Given the description of an element on the screen output the (x, y) to click on. 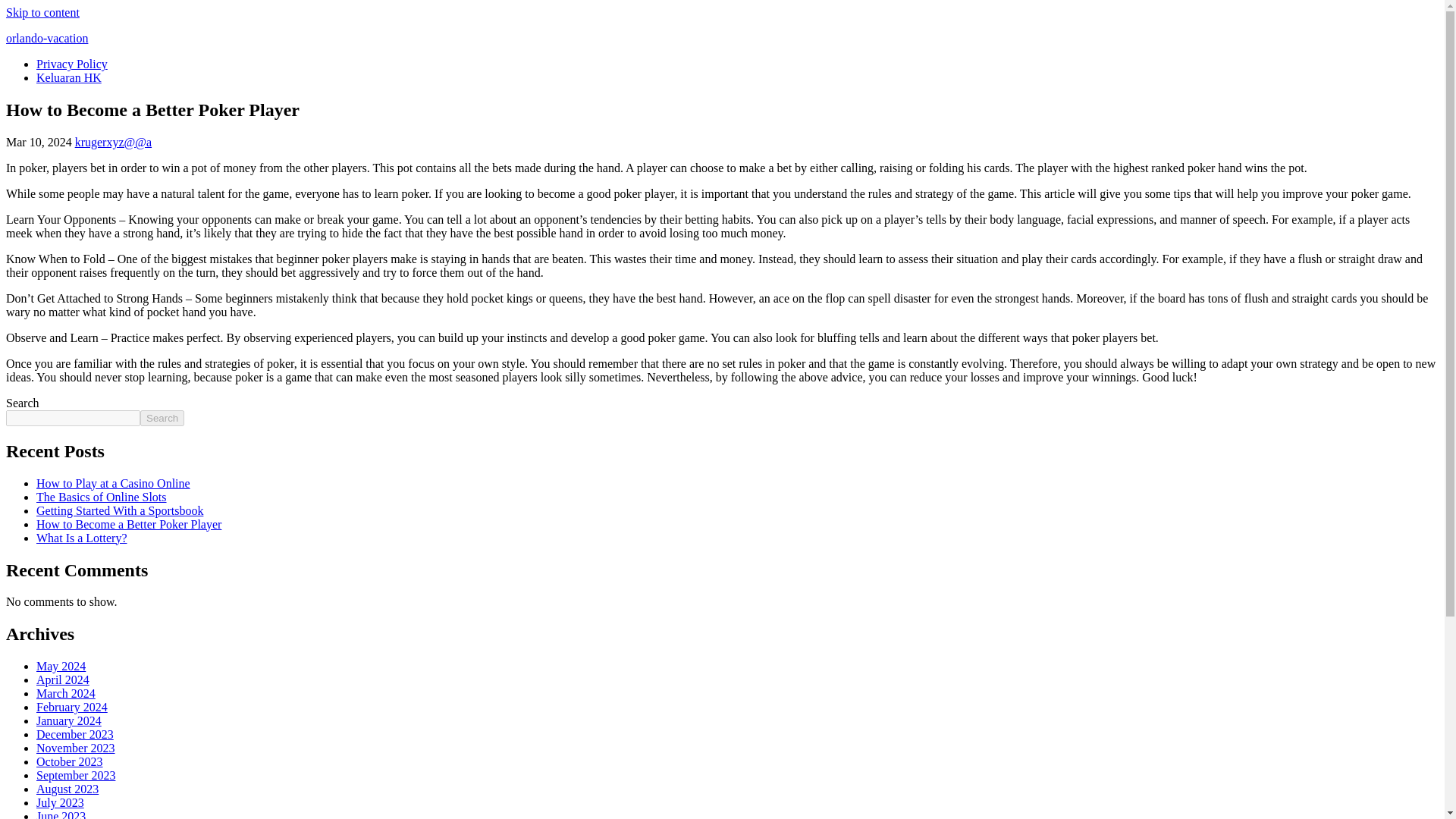
The Basics of Online Slots (101, 496)
How to Become a Better Poker Player (128, 523)
November 2023 (75, 748)
March 2024 (66, 693)
August 2023 (67, 788)
How to Play at a Casino Online (113, 482)
October 2023 (69, 761)
What Is a Lottery? (82, 537)
Getting Started With a Sportsbook (119, 510)
May 2024 (60, 666)
September 2023 (75, 775)
Search (161, 417)
February 2024 (71, 707)
July 2023 (60, 802)
January 2024 (68, 720)
